Given the description of an element on the screen output the (x, y) to click on. 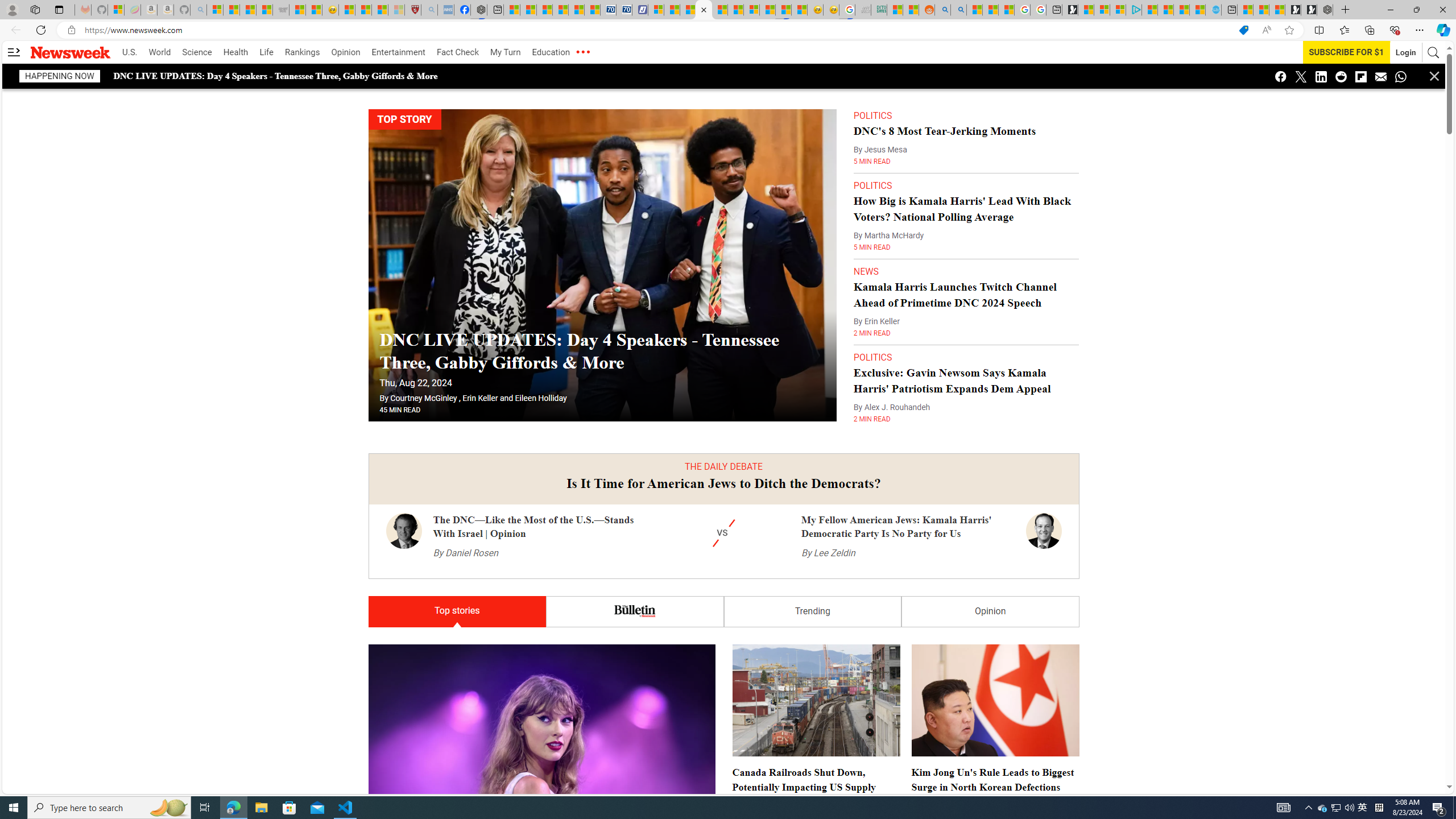
Rankings (302, 52)
By Martha McHardy (888, 235)
Class: icon icon-email (1380, 75)
Class: icon-linkedin (1321, 75)
Fact Check (457, 52)
By Erin Keller (876, 321)
